Given the description of an element on the screen output the (x, y) to click on. 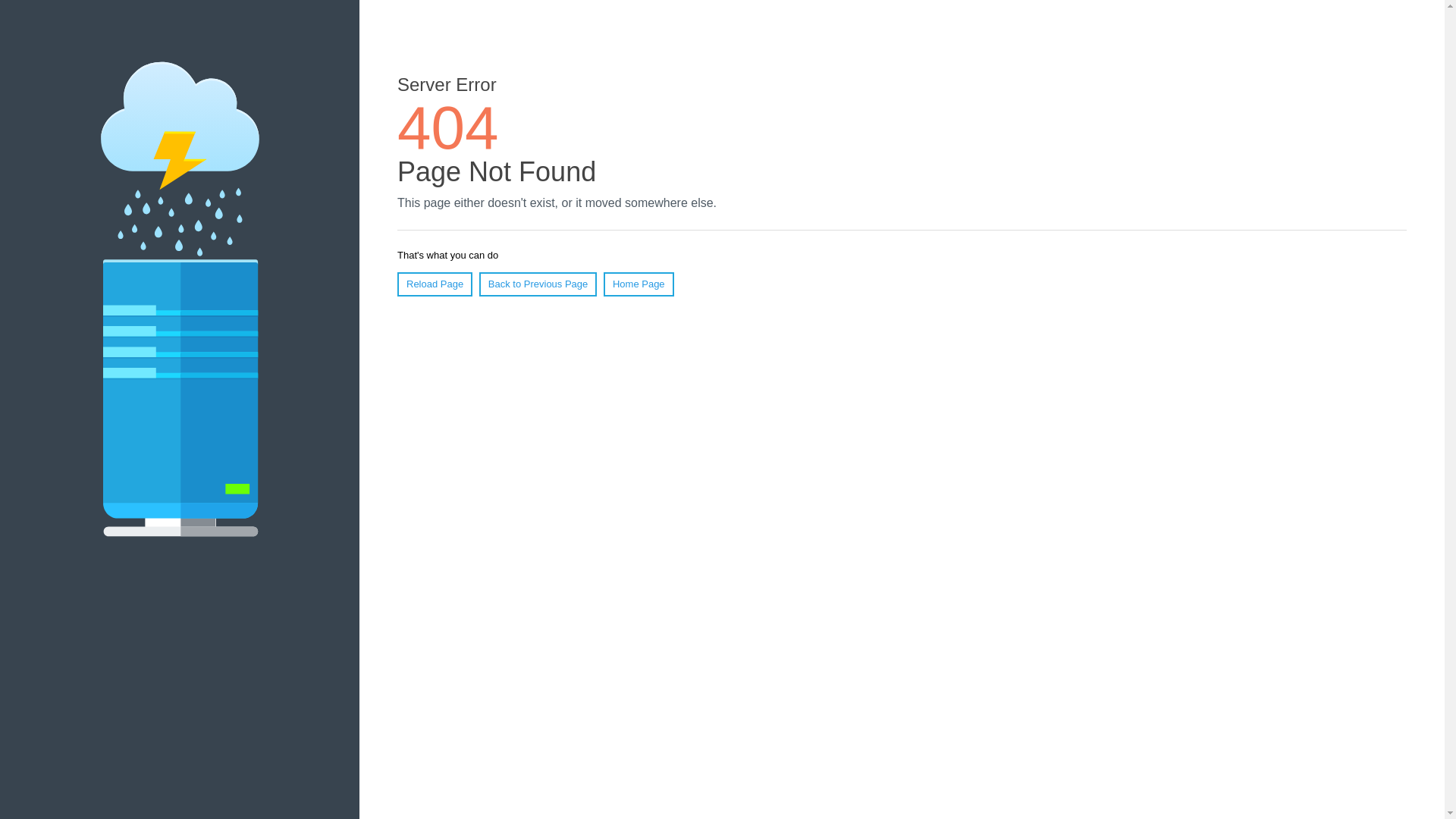
Home Page Element type: text (638, 284)
Back to Previous Page Element type: text (538, 284)
Reload Page Element type: text (434, 284)
